Given the description of an element on the screen output the (x, y) to click on. 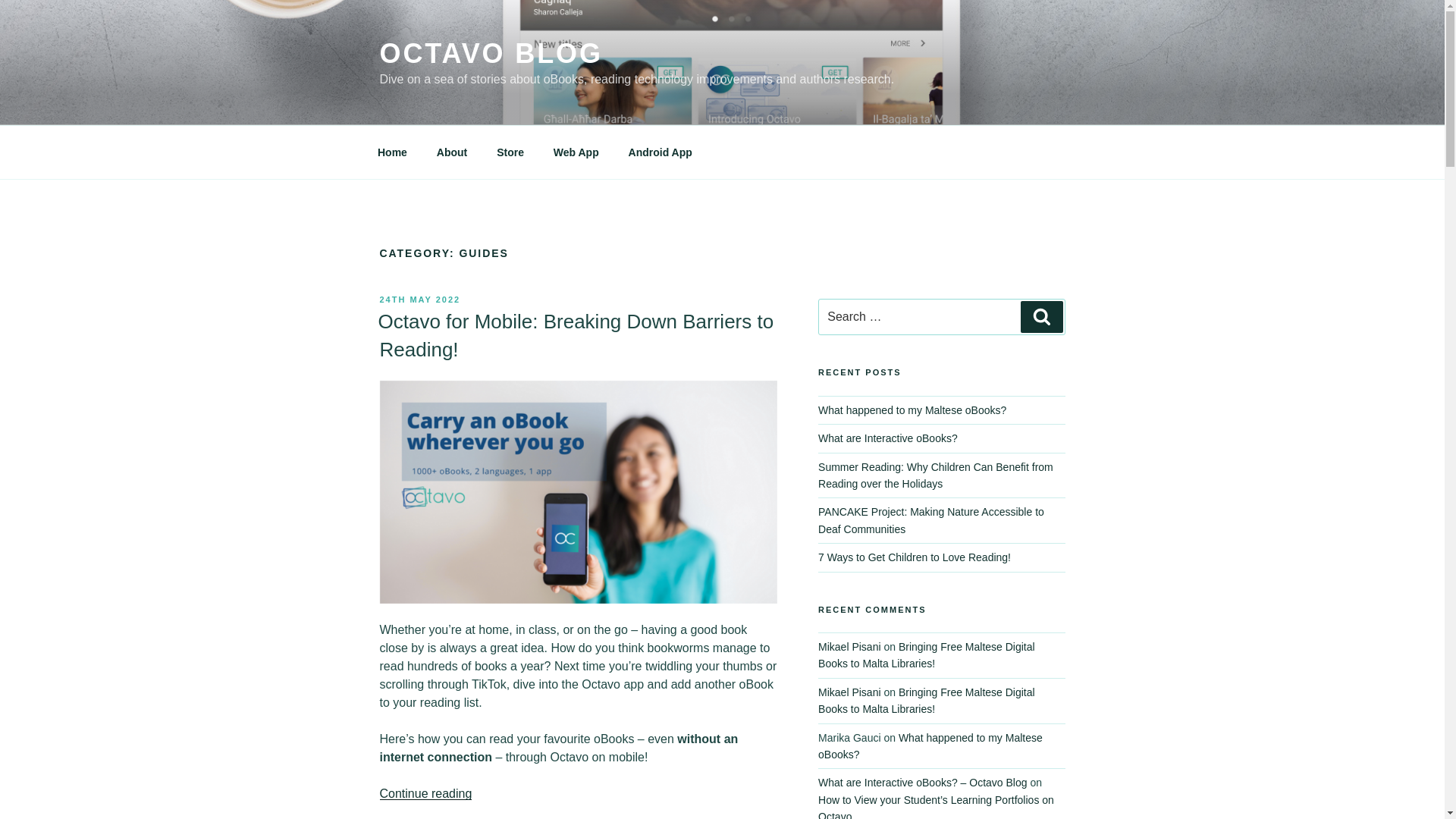
Home (392, 151)
Octavo for Mobile: Breaking Down Barriers to Reading! (575, 335)
OCTAVO BLOG (490, 52)
What happened to my Maltese oBooks? (912, 410)
Search (1041, 316)
What are Interactive oBooks? (888, 438)
24TH MAY 2022 (419, 298)
Web App (575, 151)
